Given the description of an element on the screen output the (x, y) to click on. 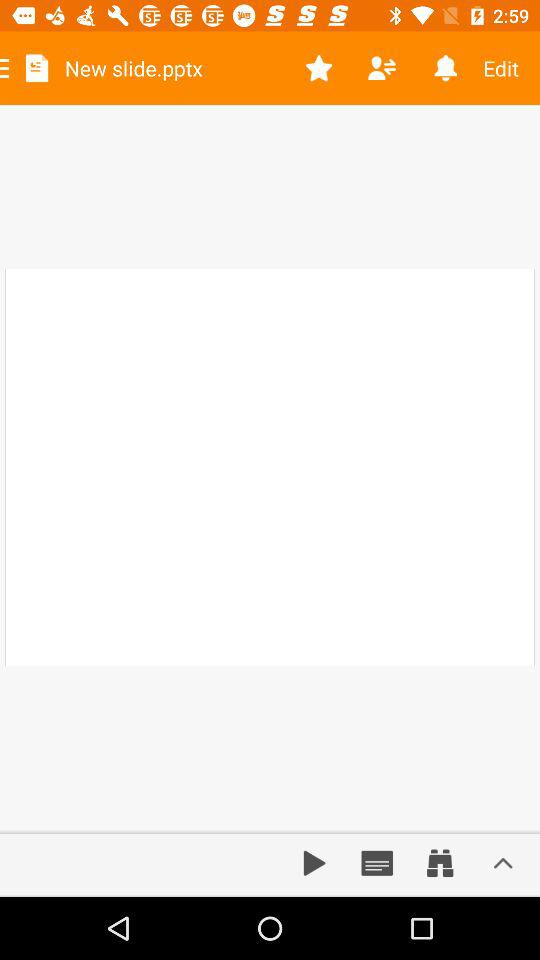
play audio (314, 863)
